Given the description of an element on the screen output the (x, y) to click on. 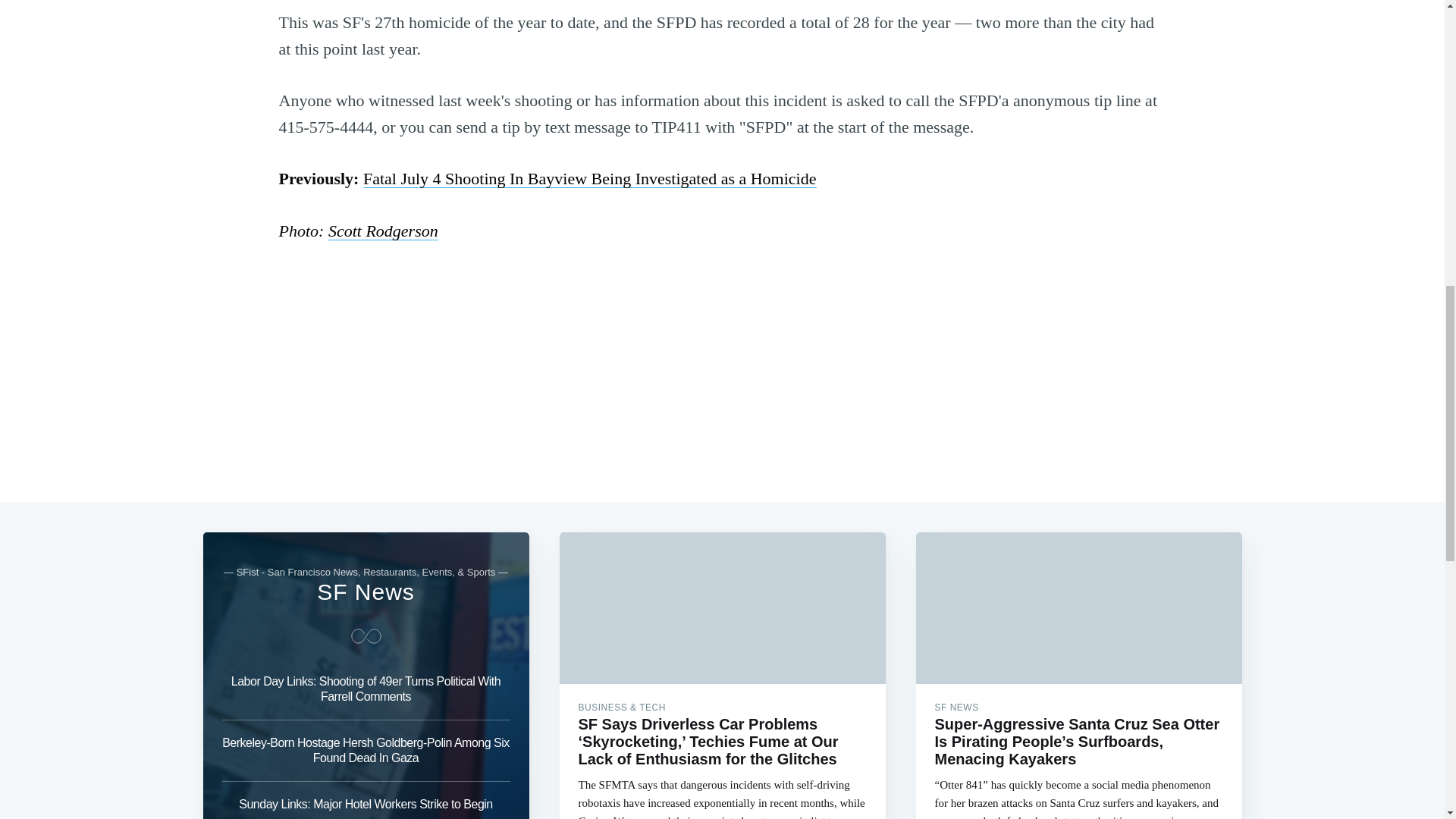
Scott Rodgerson (383, 230)
Sunday Links: Major Hotel Workers Strike to Begin (365, 800)
SF News (365, 591)
